Given the description of an element on the screen output the (x, y) to click on. 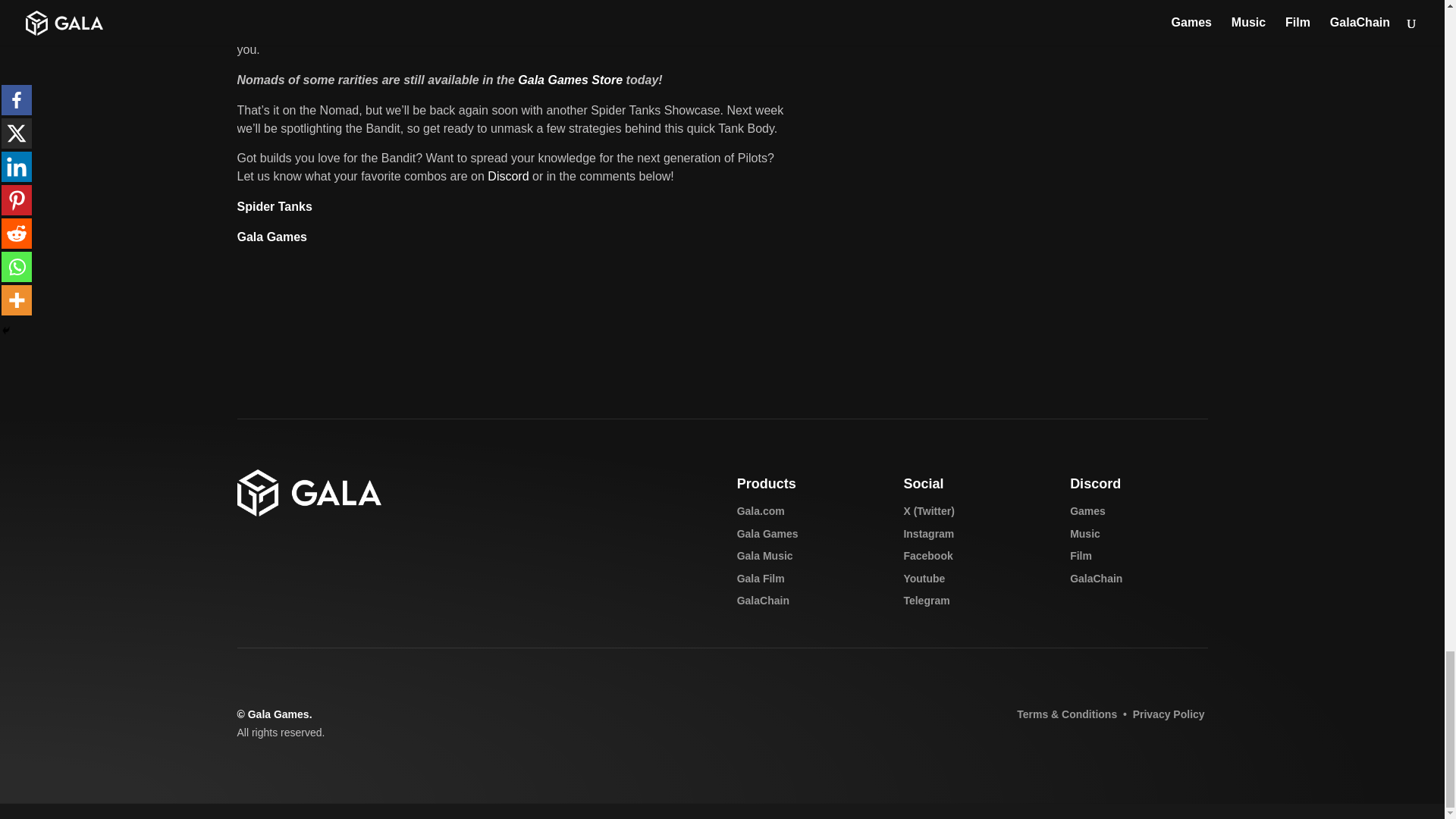
Gala Music (764, 555)
Spider Tanks (273, 205)
Gala Games (271, 236)
Gala Film (760, 578)
Gala Games Store (570, 79)
Gala Games (766, 533)
Discord (507, 175)
Gala.com (760, 510)
